Given the description of an element on the screen output the (x, y) to click on. 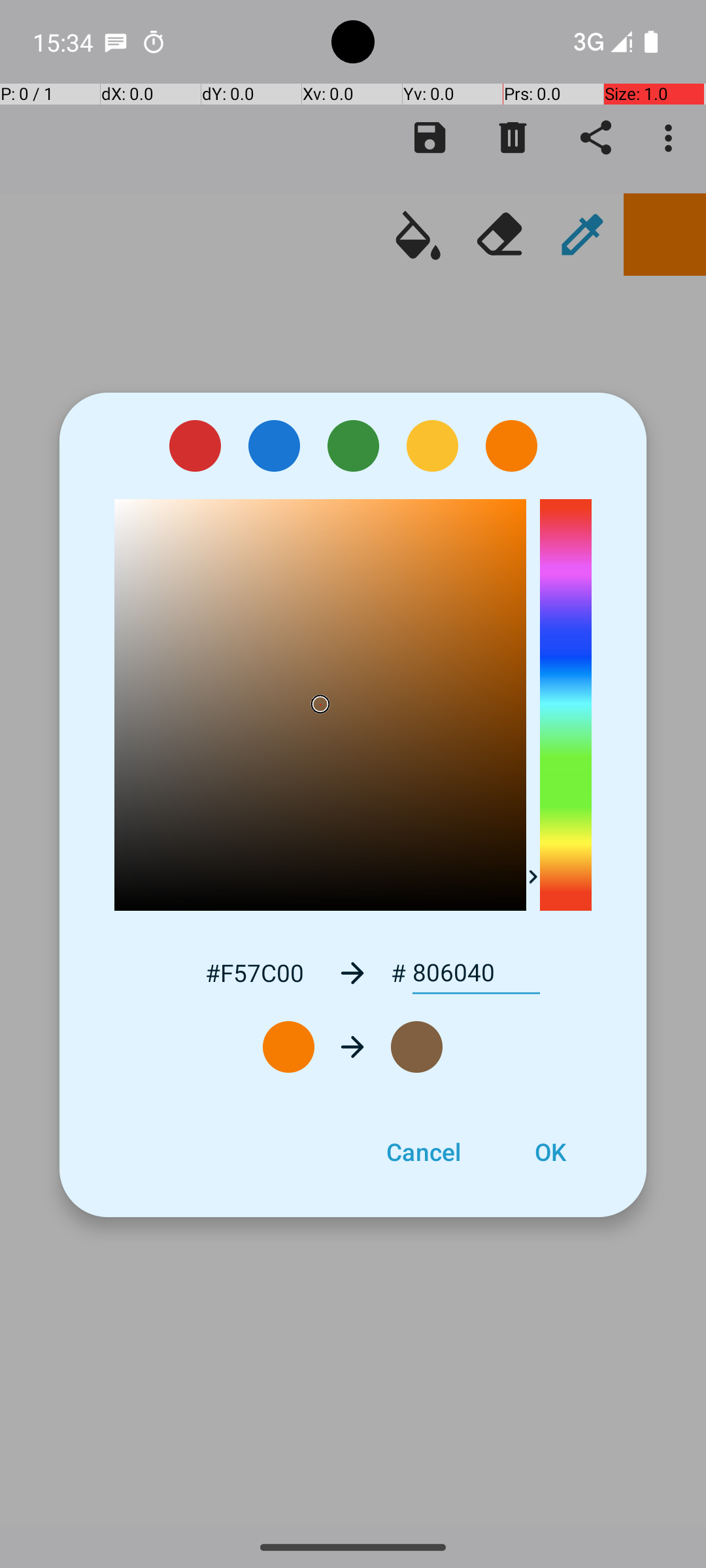
806040 Element type: android.widget.EditText (475, 972)
